Given the description of an element on the screen output the (x, y) to click on. 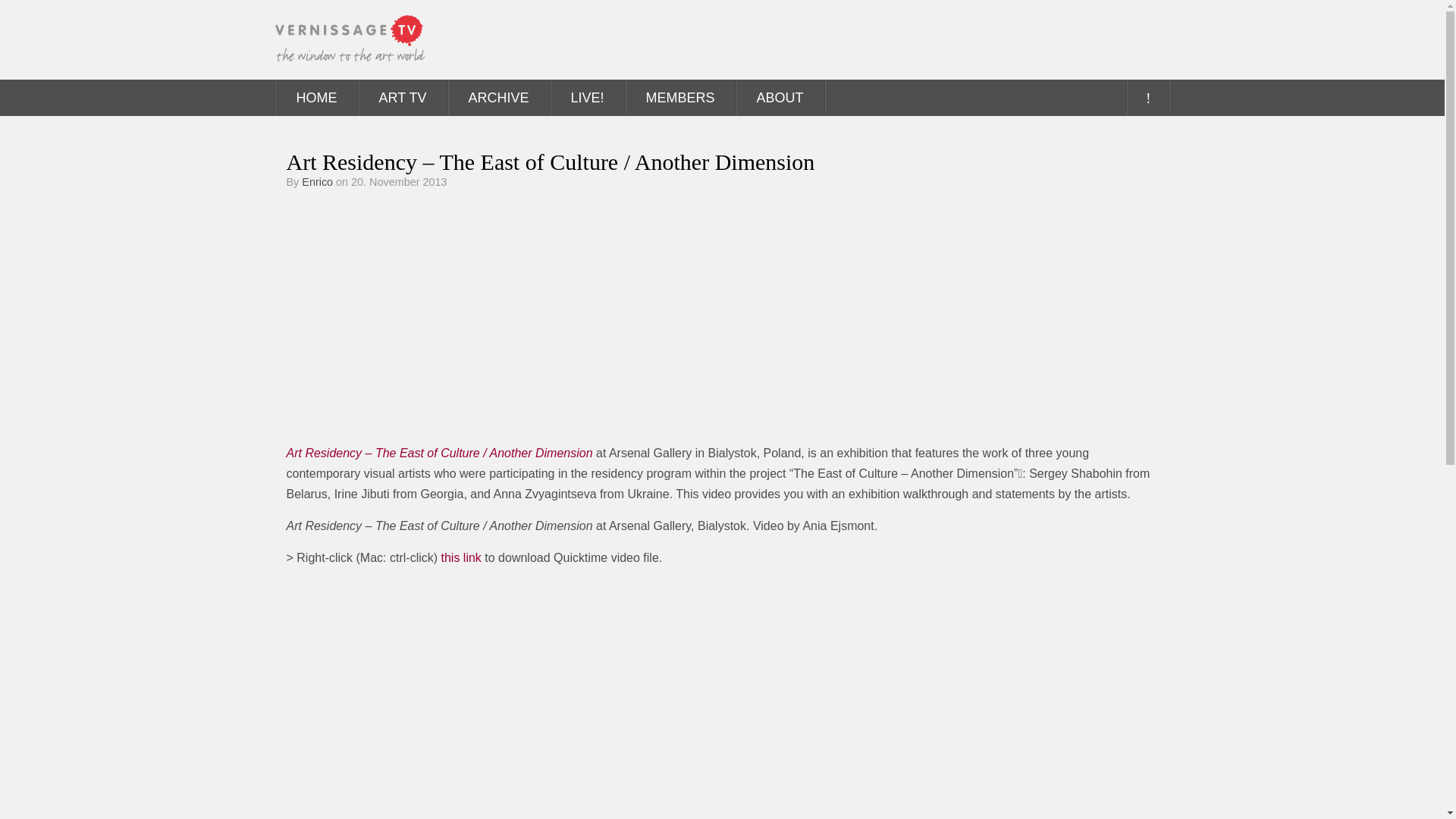
HOME (317, 97)
SEARCH (1146, 97)
Enrico (317, 182)
MEMBERS (680, 97)
LIVE! (587, 97)
this link (461, 557)
ART TV (402, 97)
ABOUT (780, 97)
View all posts by Enrico (317, 182)
